Given the description of an element on the screen output the (x, y) to click on. 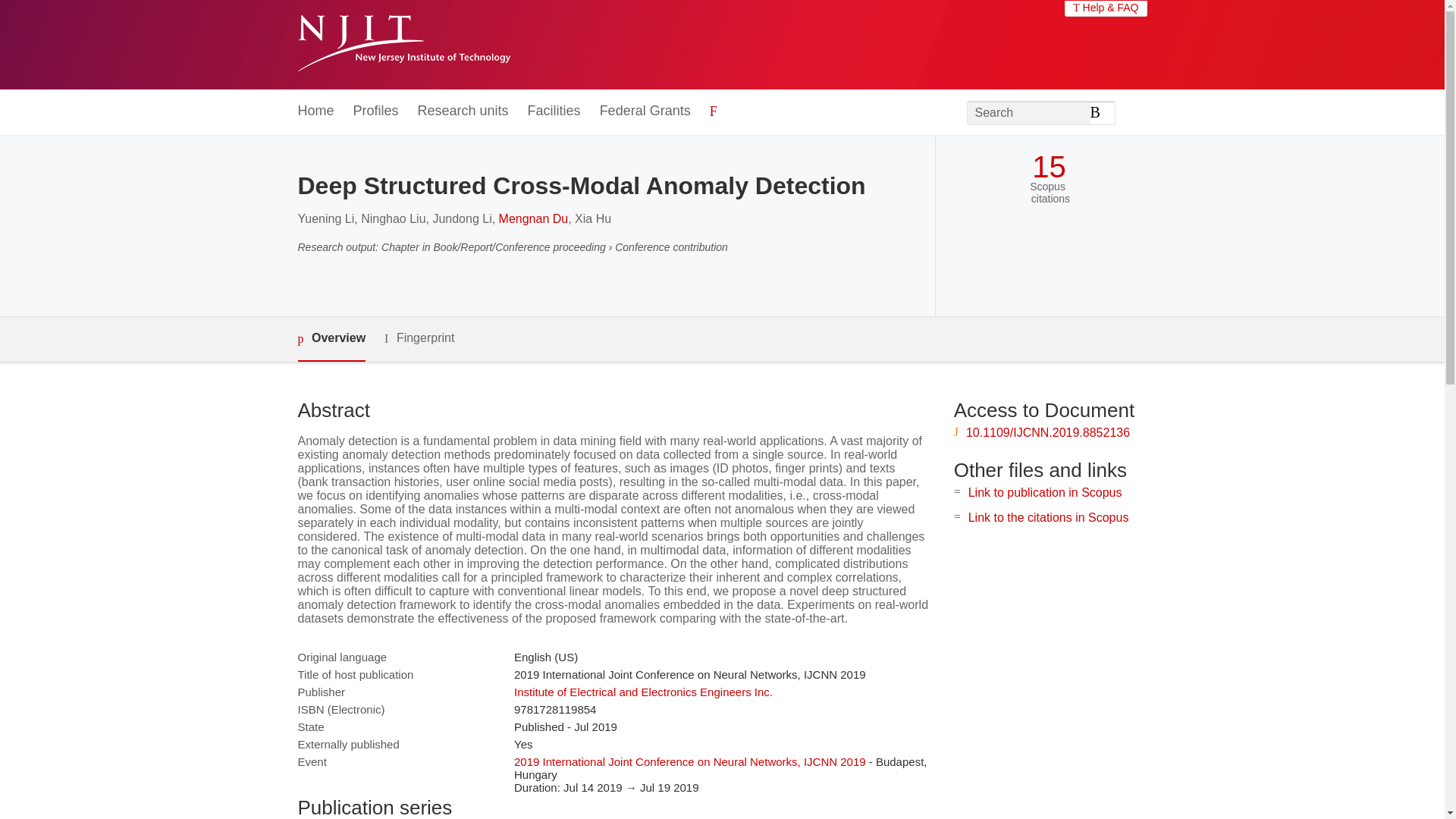
Link to publication in Scopus (1045, 492)
Mengnan Du (534, 218)
Federal Grants (644, 111)
Institute of Electrical and Electronics Engineers Inc. (643, 691)
Overview (331, 338)
New Jersey Institute of Technology Home (403, 44)
Fingerprint (419, 338)
Link to the citations in Scopus (1048, 517)
15 (1048, 166)
Profiles (375, 111)
Facilities (553, 111)
Research units (462, 111)
